Given the description of an element on the screen output the (x, y) to click on. 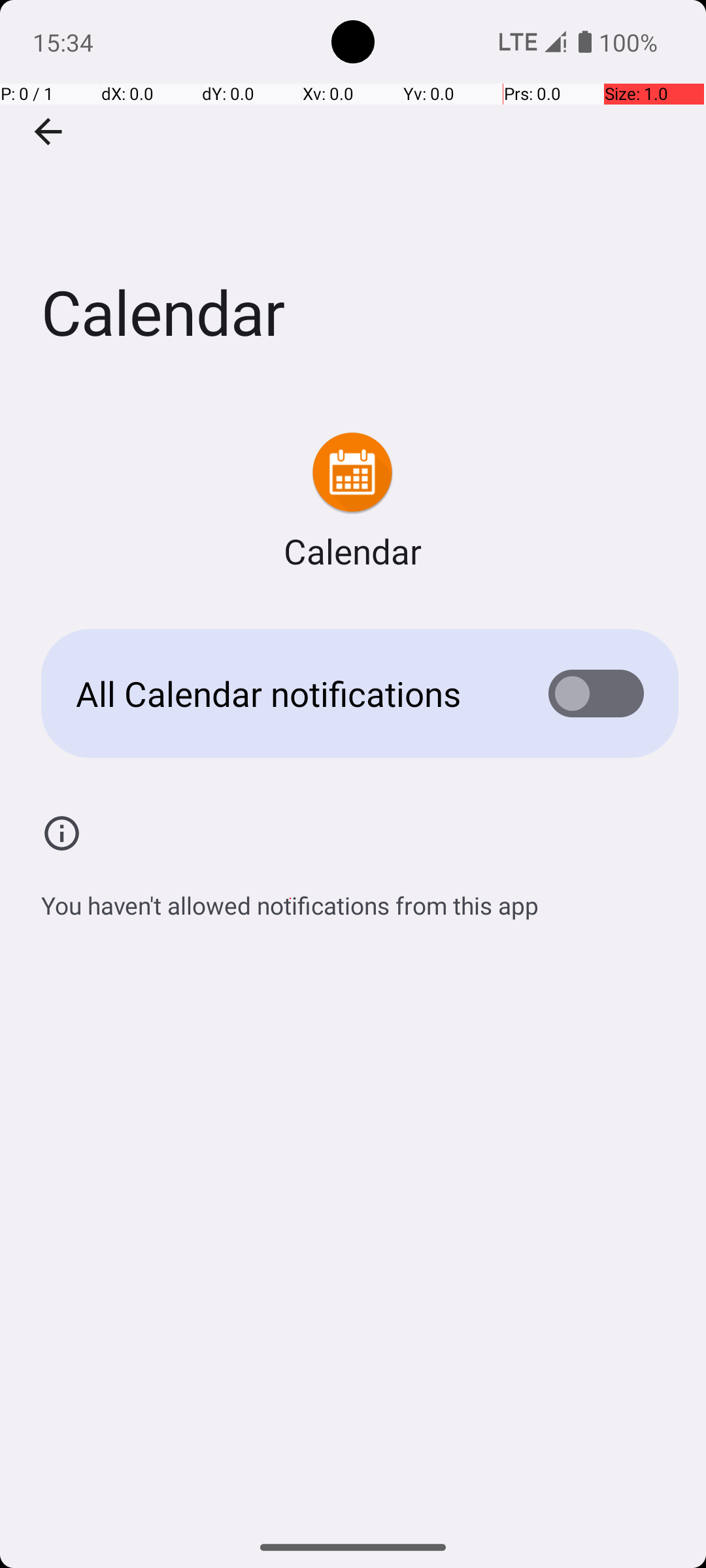
All Calendar notifications Element type: android.widget.TextView (291, 693)
You haven't allowed notifications from this app Element type: android.widget.TextView (290, 898)
